Given the description of an element on the screen output the (x, y) to click on. 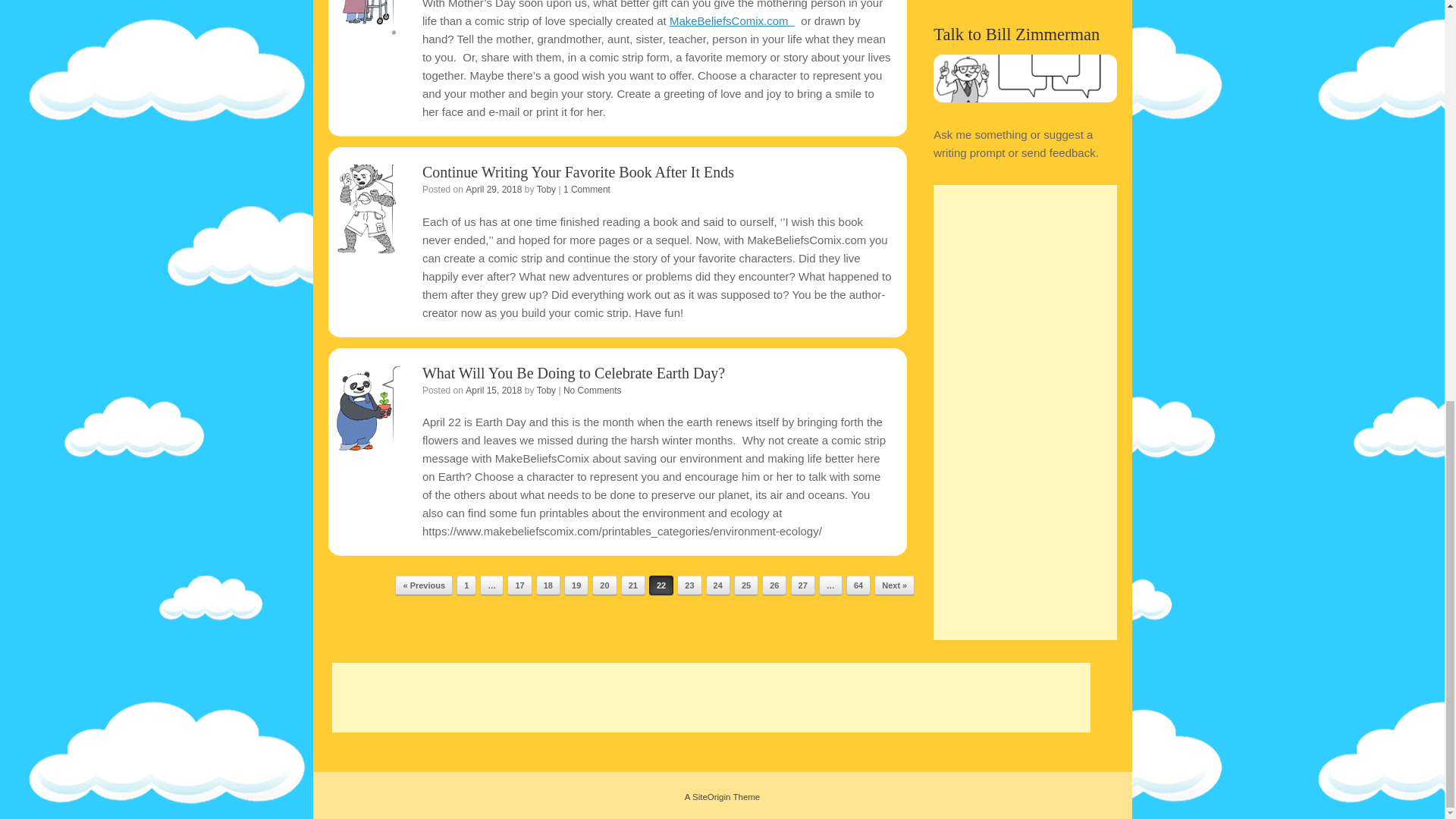
23 (689, 585)
No Comments (592, 389)
Permalink to What Will You Be Doing to Celebrate Earth Day? (573, 372)
1 Comment (586, 189)
21 (633, 585)
April 15, 2018 (493, 389)
April 29, 2018 (493, 189)
Toby (546, 189)
MakeBeliefsComix.com   (731, 20)
18 (547, 585)
View all posts by Toby (546, 189)
17 (518, 585)
What Will You Be Doing to Celebrate Earth Day? (573, 372)
Continue Writing Your Favorite Book After It Ends (577, 171)
